Given the description of an element on the screen output the (x, y) to click on. 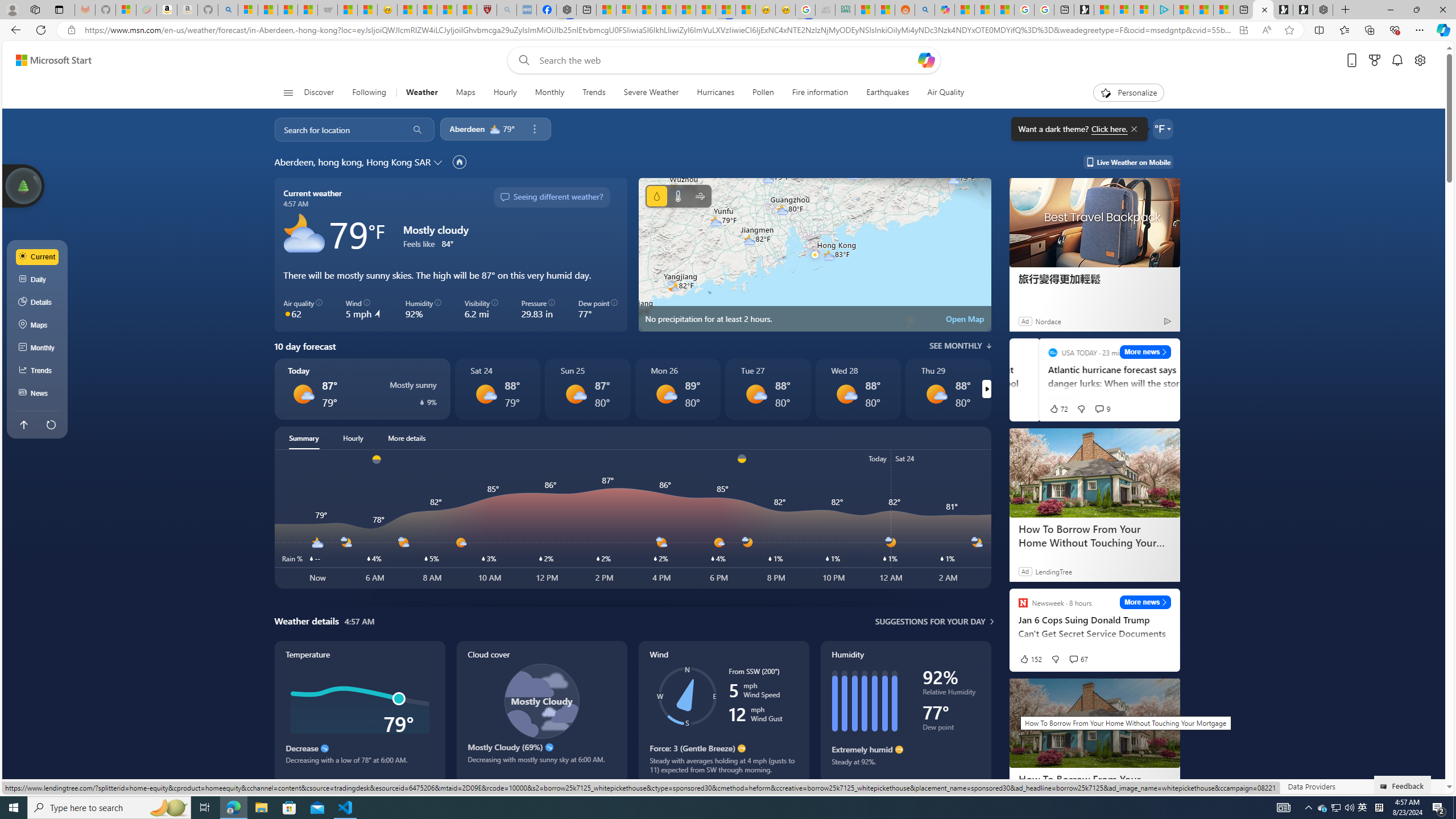
Back to top (23, 424)
Trends (37, 370)
Maps (37, 325)
Trends (593, 92)
Class: feedback_link_icon-DS-EntryPoint1-1 (1384, 786)
Current (37, 256)
Monthly (37, 347)
Fire information (820, 92)
Data Providers (1311, 785)
Recipes - MSN (407, 9)
